Given the description of an element on the screen output the (x, y) to click on. 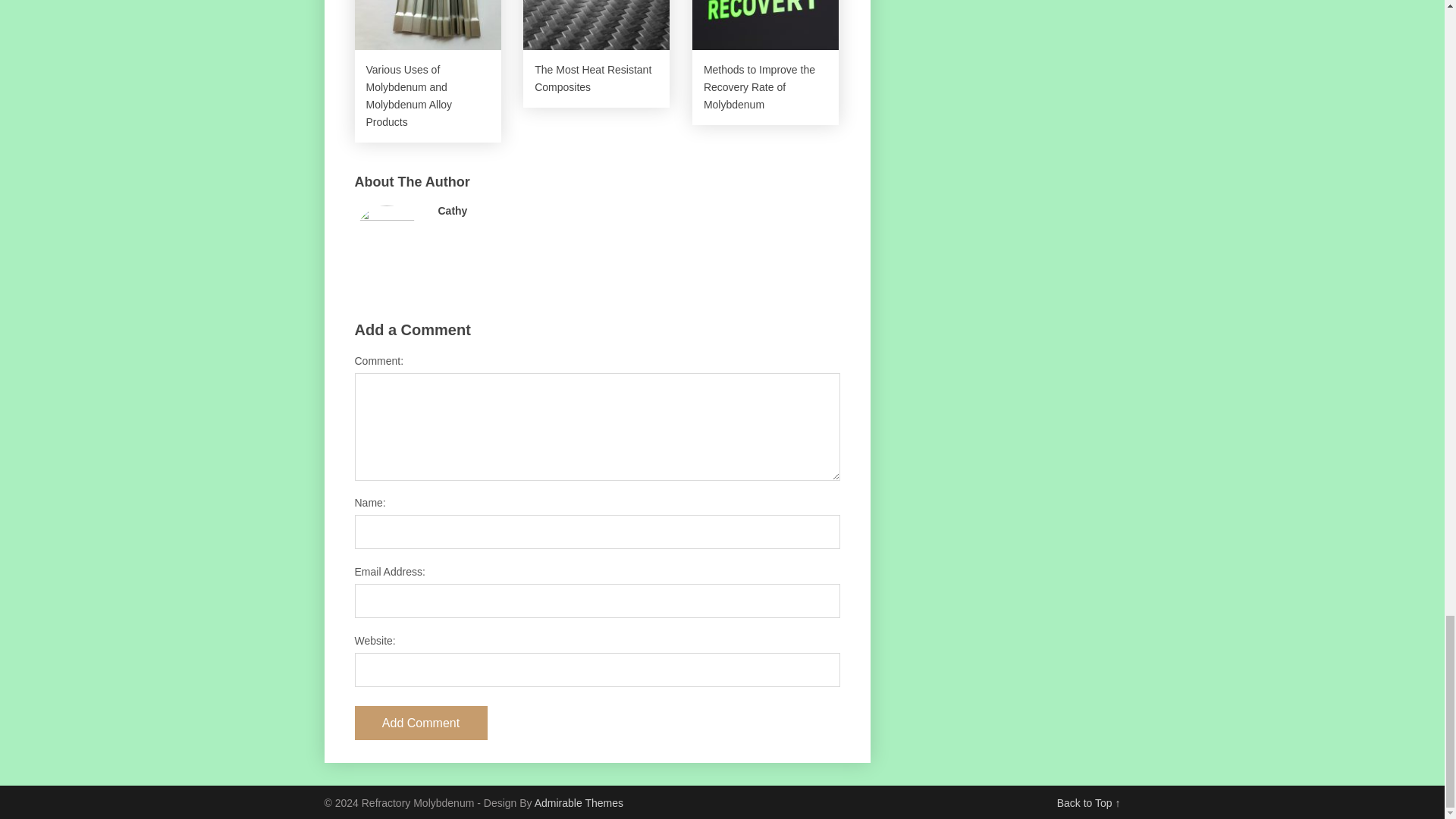
Add Comment (421, 722)
Various Uses of Molybdenum and Molybdenum Alloy Products (427, 71)
The Most Heat Resistant Composites (595, 54)
Add Comment (421, 722)
Methods to Improve the Recovery Rate of Molybdenum (765, 63)
The Most Heat Resistant Composites (595, 54)
Various Uses of Molybdenum and Molybdenum Alloy Products (427, 71)
Methods to Improve the Recovery Rate of Molybdenum (765, 63)
